Given the description of an element on the screen output the (x, y) to click on. 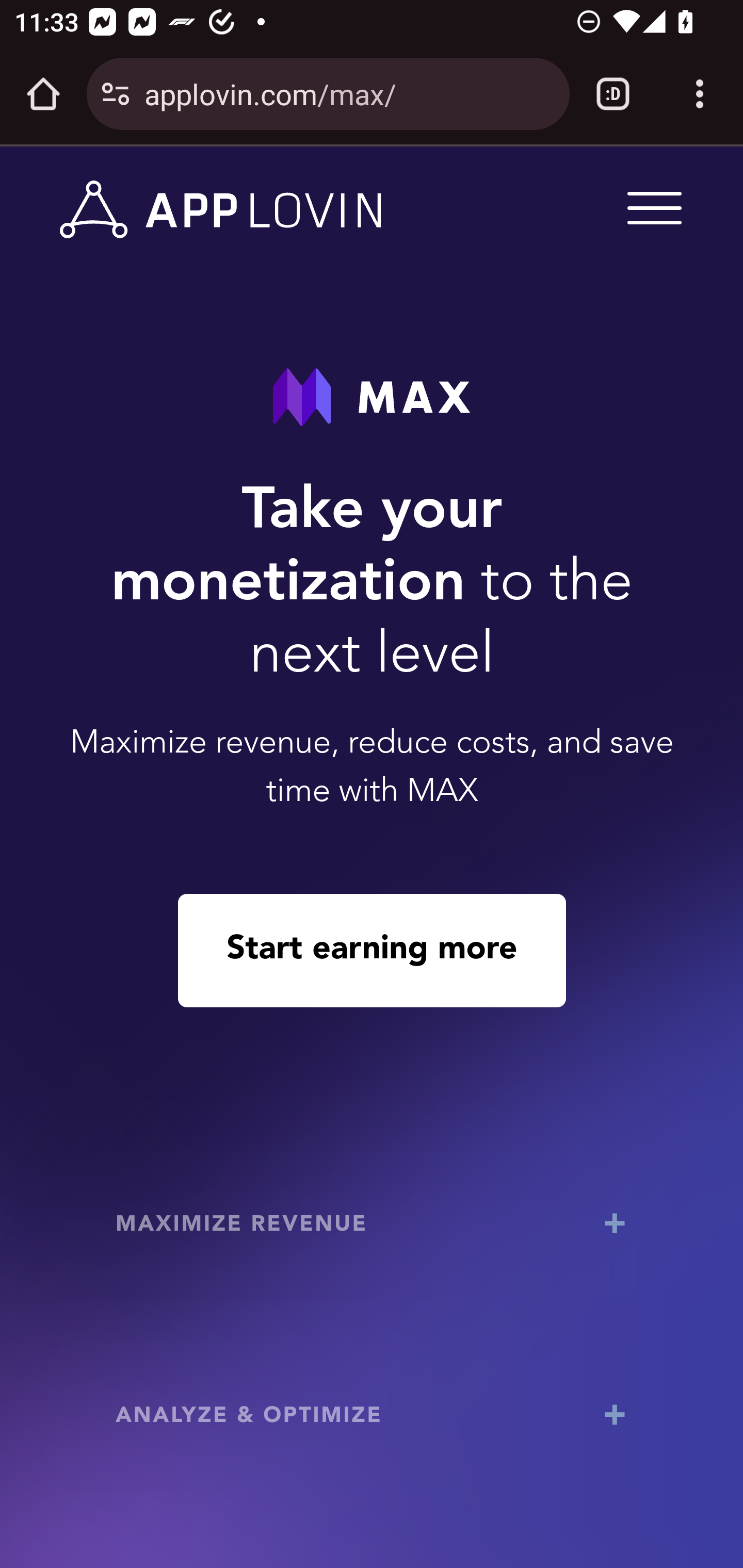
Open the home page (43, 93)
Connection is secure (115, 93)
Switch or close tabs (612, 93)
Customize and control Google Chrome (699, 93)
applovin.com/max/ (349, 92)
Menu Trigger (650, 207)
www.applovin (220, 209)
Start earning more (371, 950)
